Given the description of an element on the screen output the (x, y) to click on. 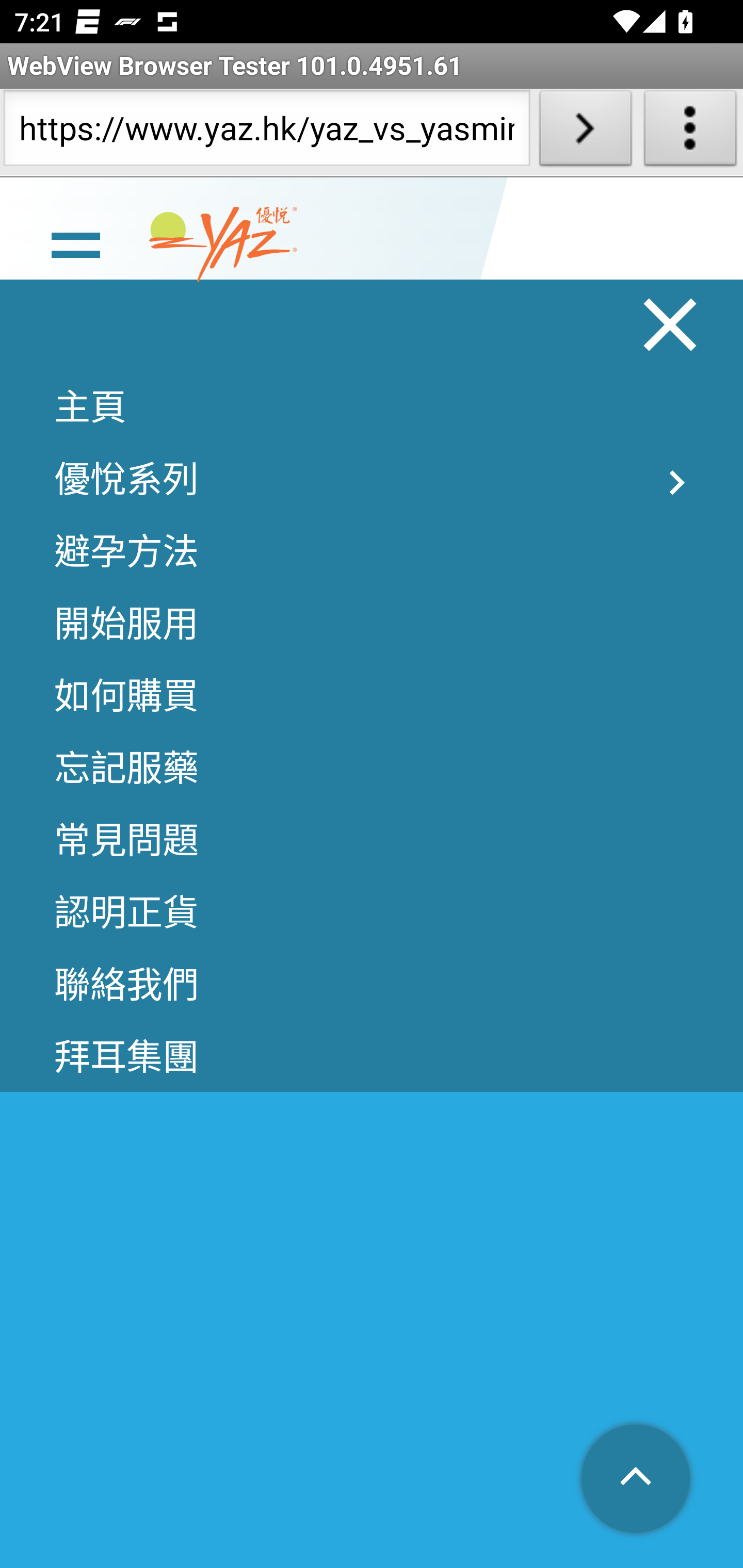
Load URL (585, 132)
About WebView (690, 132)
www.yaz (222, 245)
line Toggle burger menu (75, 245)
 Close burger menu (670, 325)
主頁 (371, 406)
優悅系列 (371, 478)
Toggle sub menu (677, 483)
避孕方法 (371, 551)
開始服用 (371, 623)
如何購買 (371, 695)
忘記服藥 (371, 767)
常見問題 (371, 840)
認明正貨 (371, 913)
聯絡我們 (371, 985)
拜耳集團 (371, 1057)
 (636, 1480)
